Given the description of an element on the screen output the (x, y) to click on. 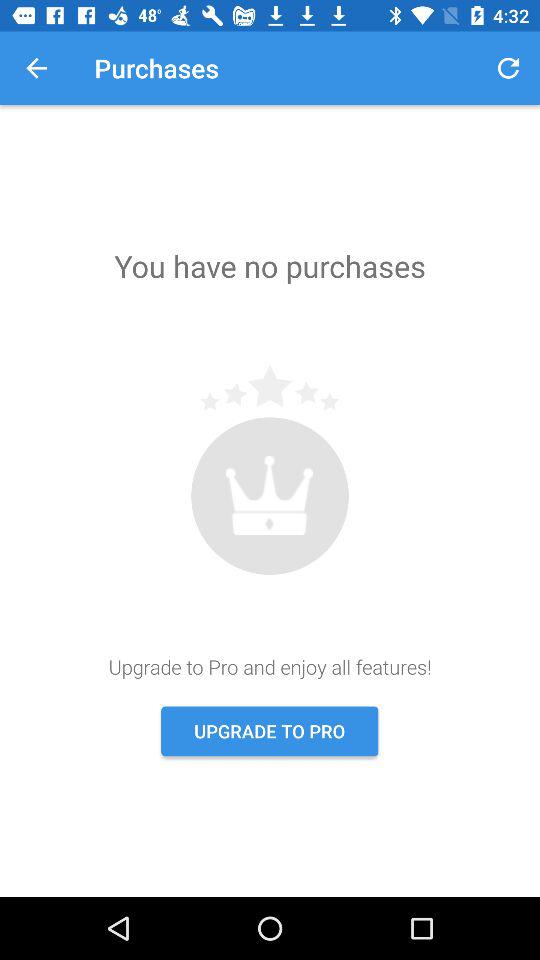
tap icon above the you have no item (36, 68)
